Given the description of an element on the screen output the (x, y) to click on. 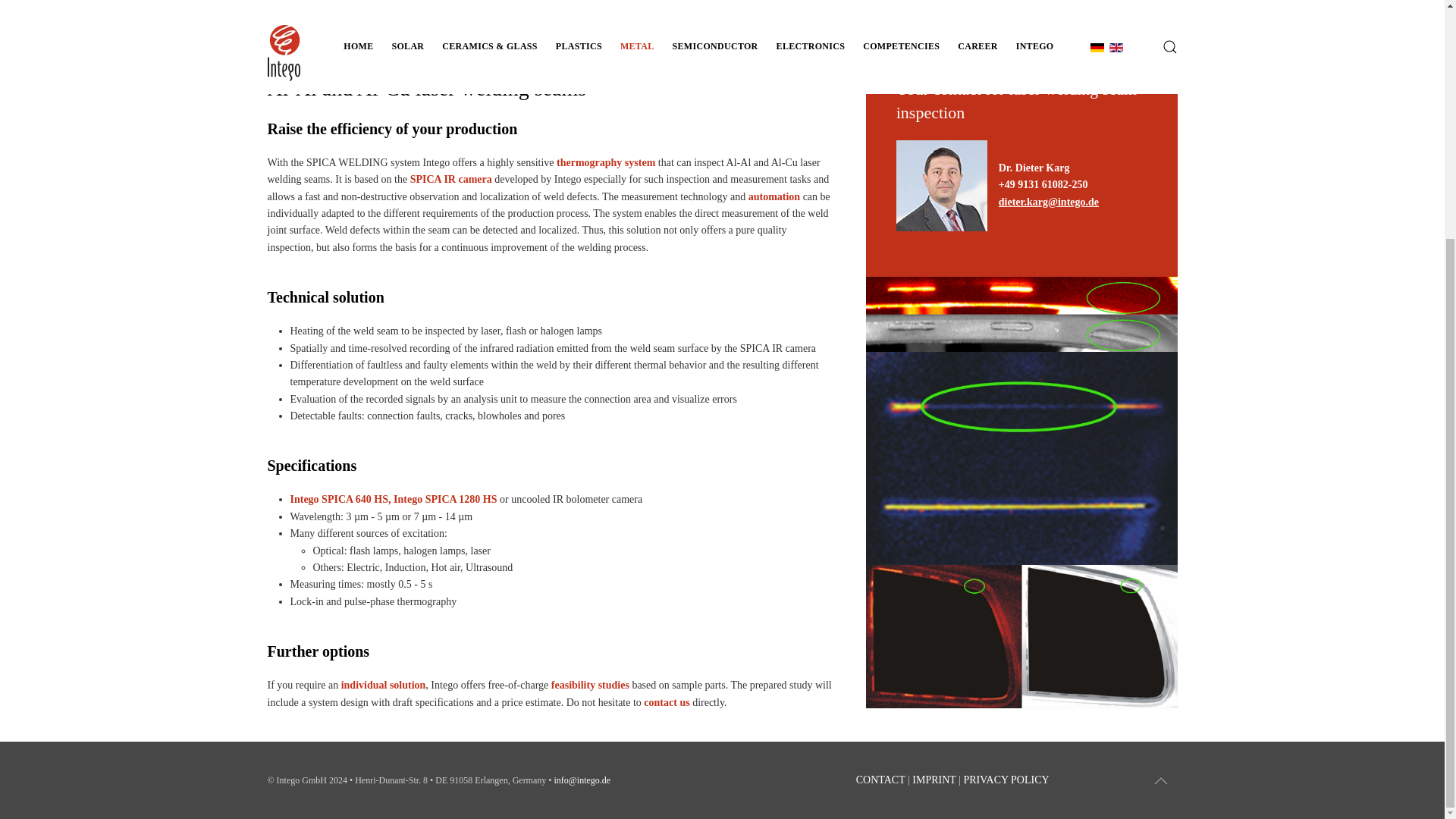
Imprint (933, 779)
Privacy Policy (1005, 779)
Contact (880, 779)
